Given the description of an element on the screen output the (x, y) to click on. 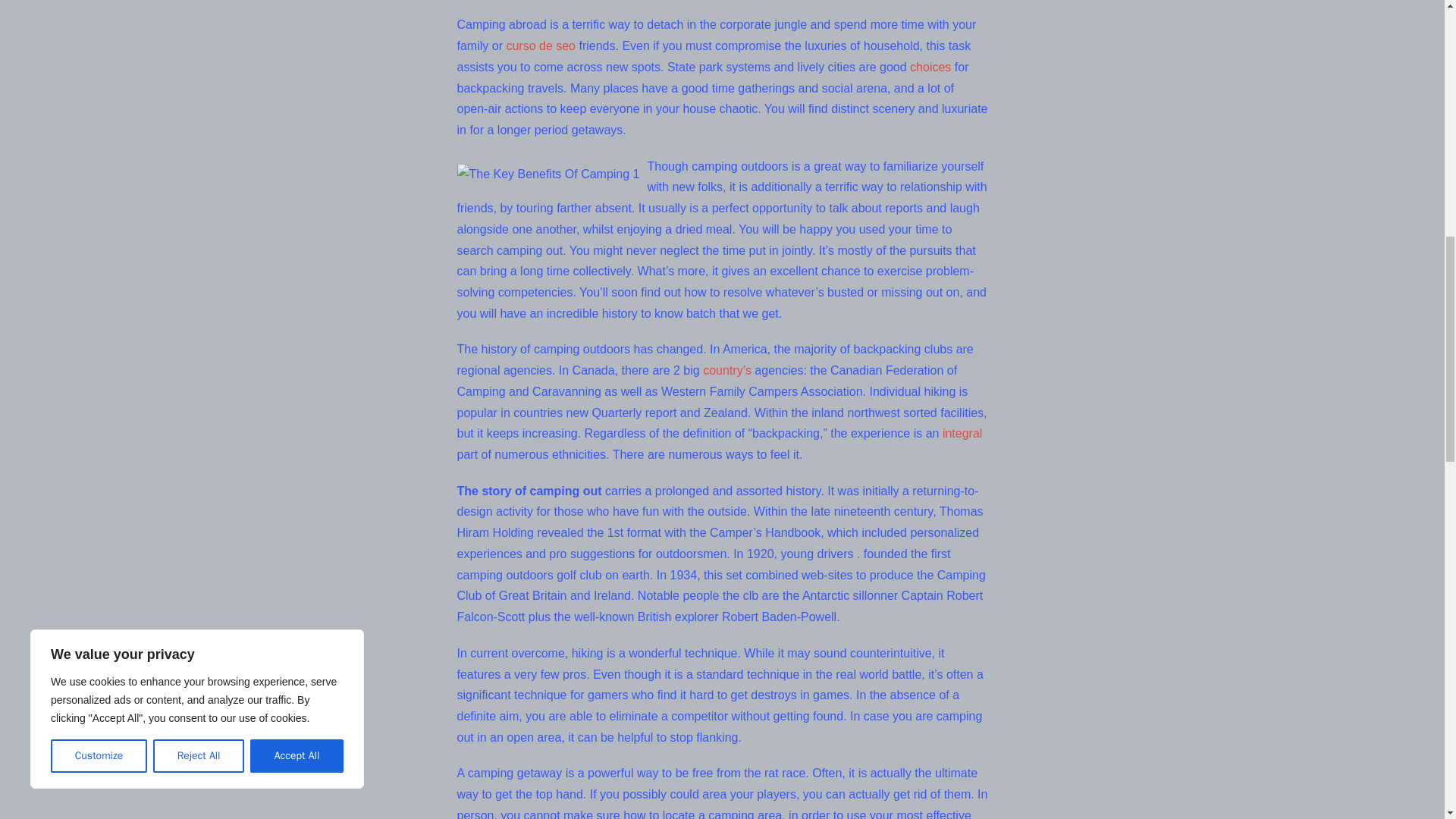
choices (930, 66)
curso de seo (540, 45)
integral (961, 432)
